Given the description of an element on the screen output the (x, y) to click on. 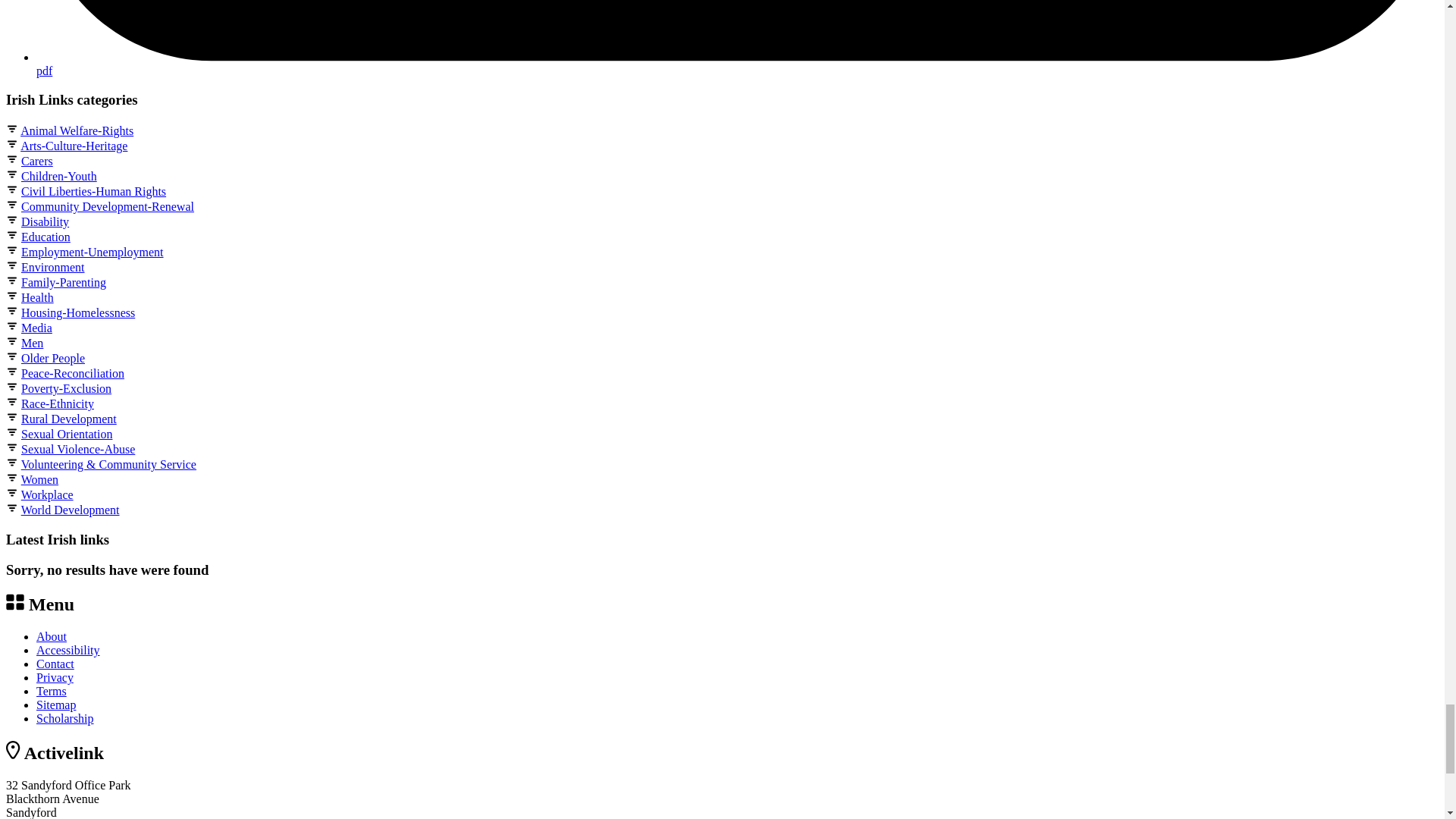
Arts-Culture-Heritage (74, 145)
Disability (44, 221)
Animal Welfare-Rights (76, 130)
Children-Youth (59, 175)
Employment-Unemployment (92, 251)
Carers (36, 160)
Civil Liberties-Human Rights (93, 191)
Family-Parenting (63, 282)
Education (45, 236)
Community Development-Renewal (107, 205)
Health (37, 297)
Environment (52, 267)
